Given the description of an element on the screen output the (x, y) to click on. 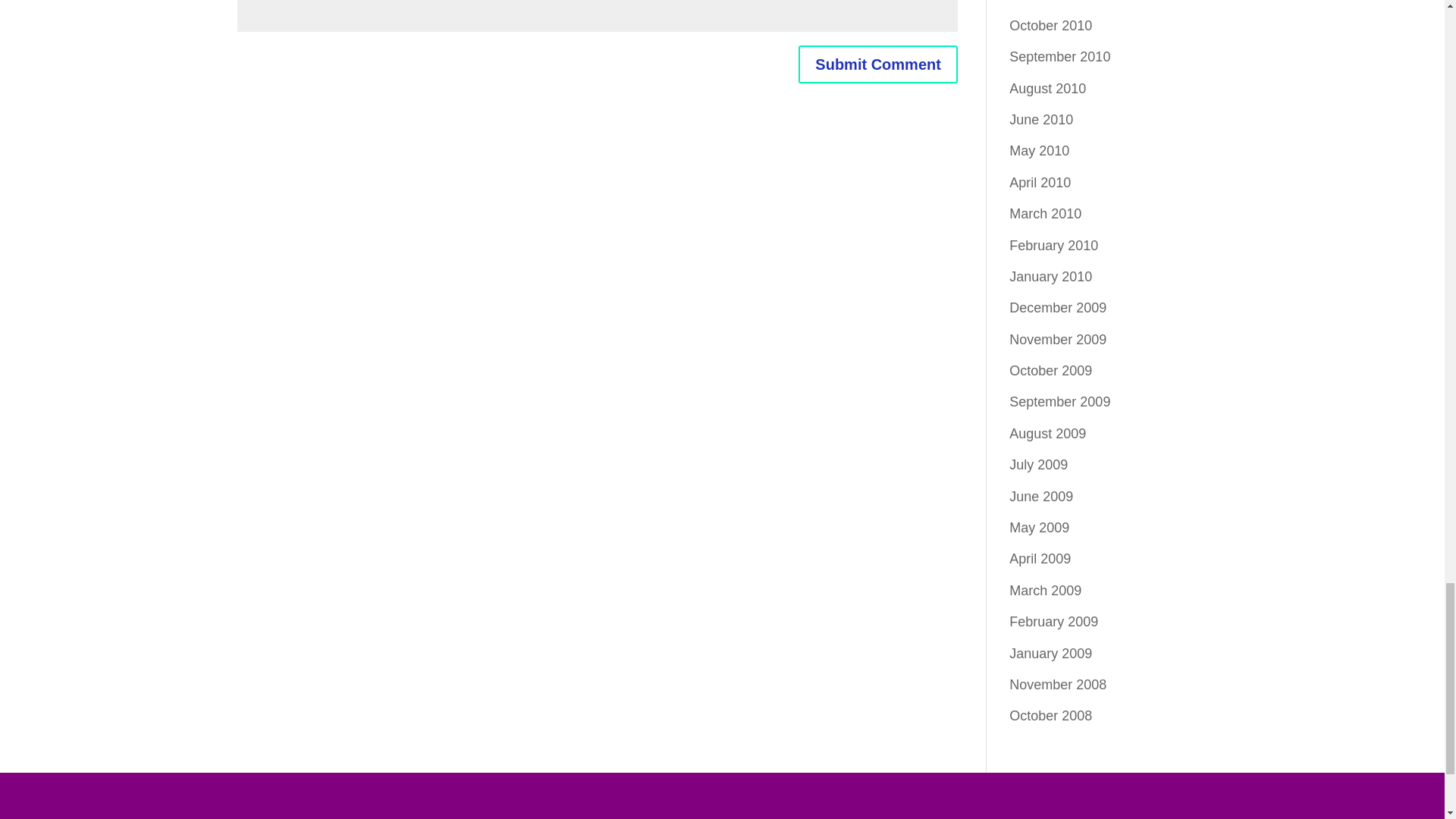
Submit Comment (877, 64)
cropped-Dream-Site-Logo.png (721, 799)
